Given the description of an element on the screen output the (x, y) to click on. 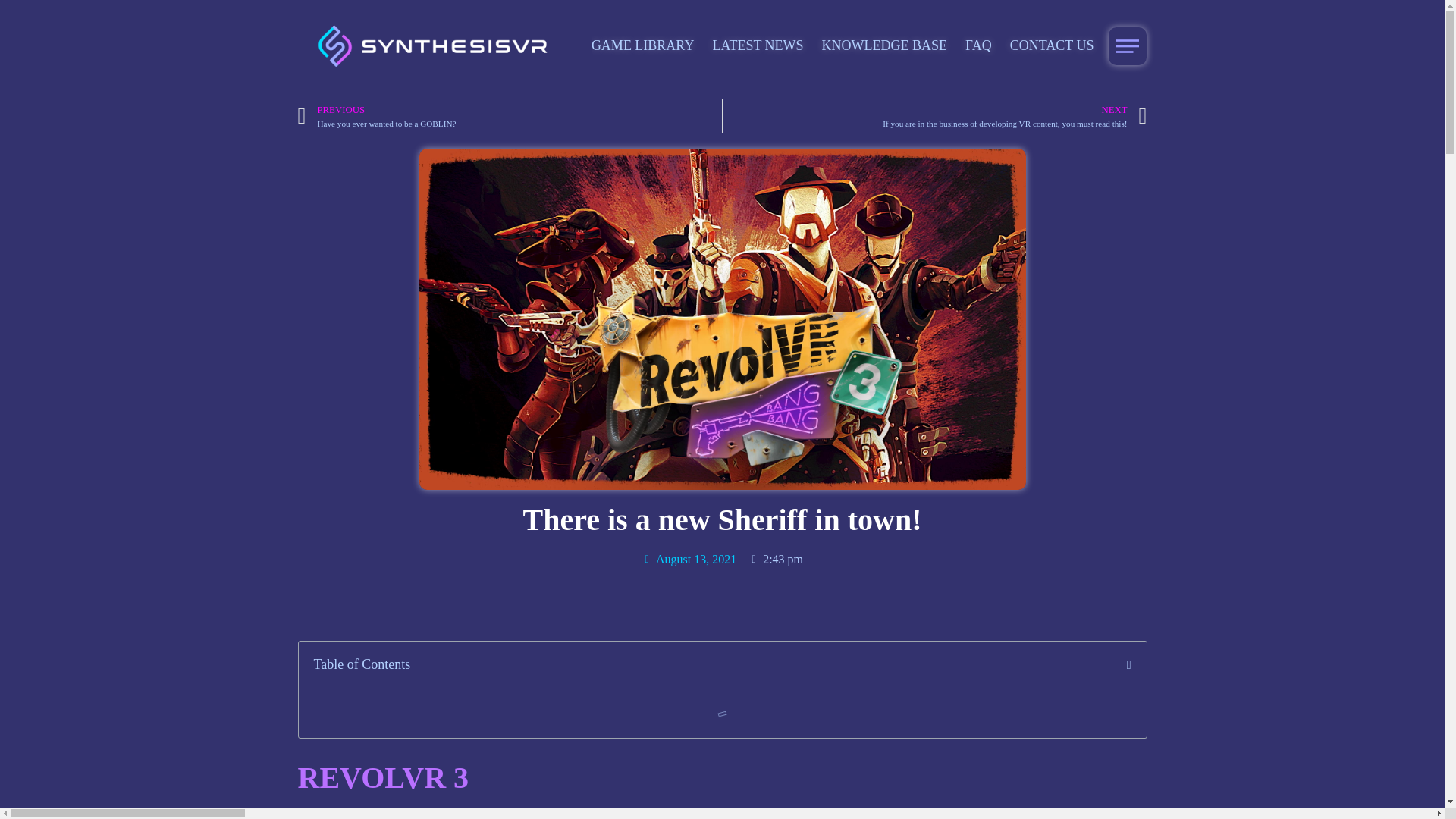
CONTACT US (1052, 46)
LATEST NEWS (757, 46)
GAME LIBRARY (642, 46)
August 13, 2021 (509, 116)
FAQ (689, 559)
KNOWLEDGE BASE (978, 46)
